Given the description of an element on the screen output the (x, y) to click on. 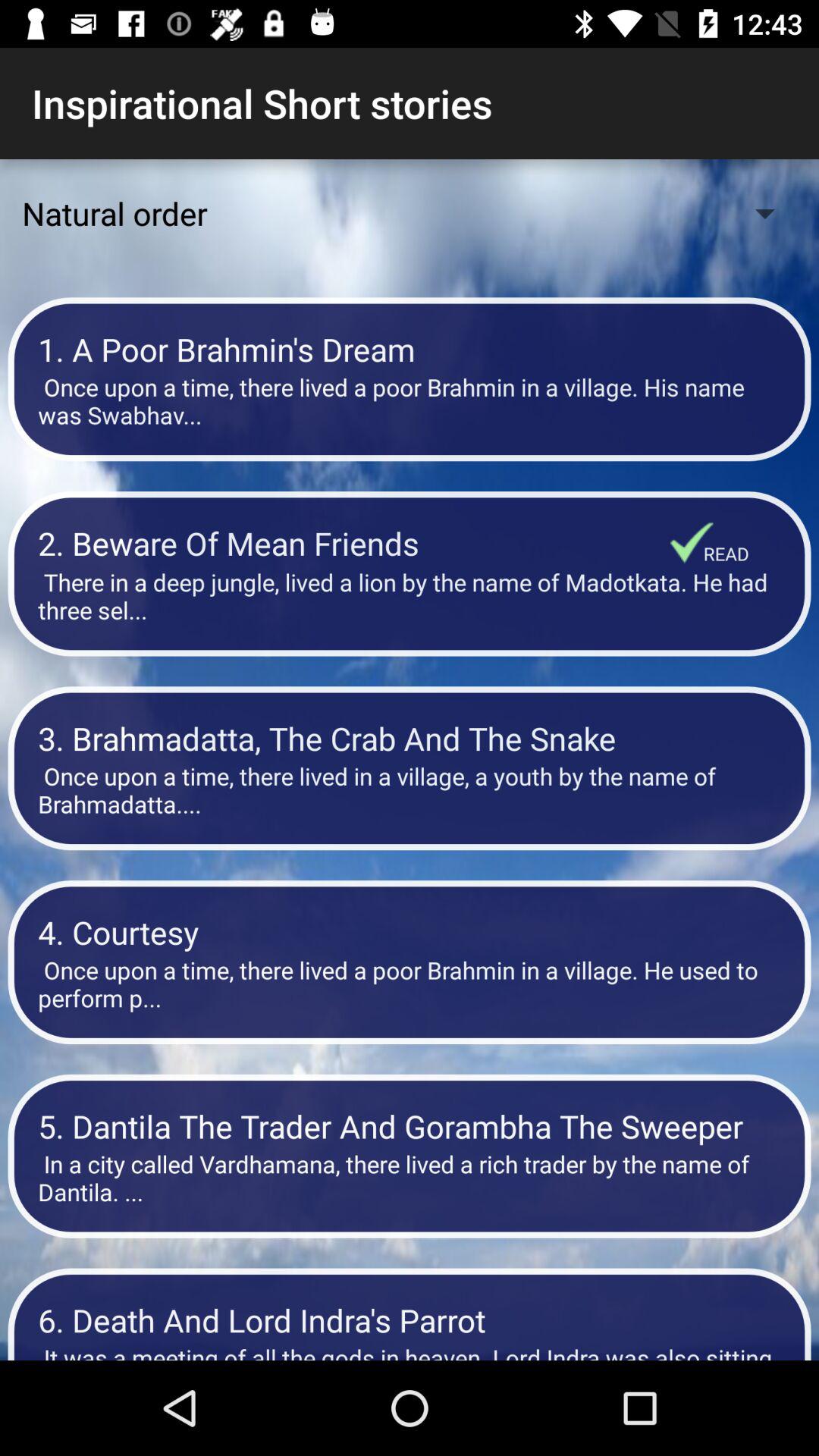
choose item above once upon a item (409, 737)
